Given the description of an element on the screen output the (x, y) to click on. 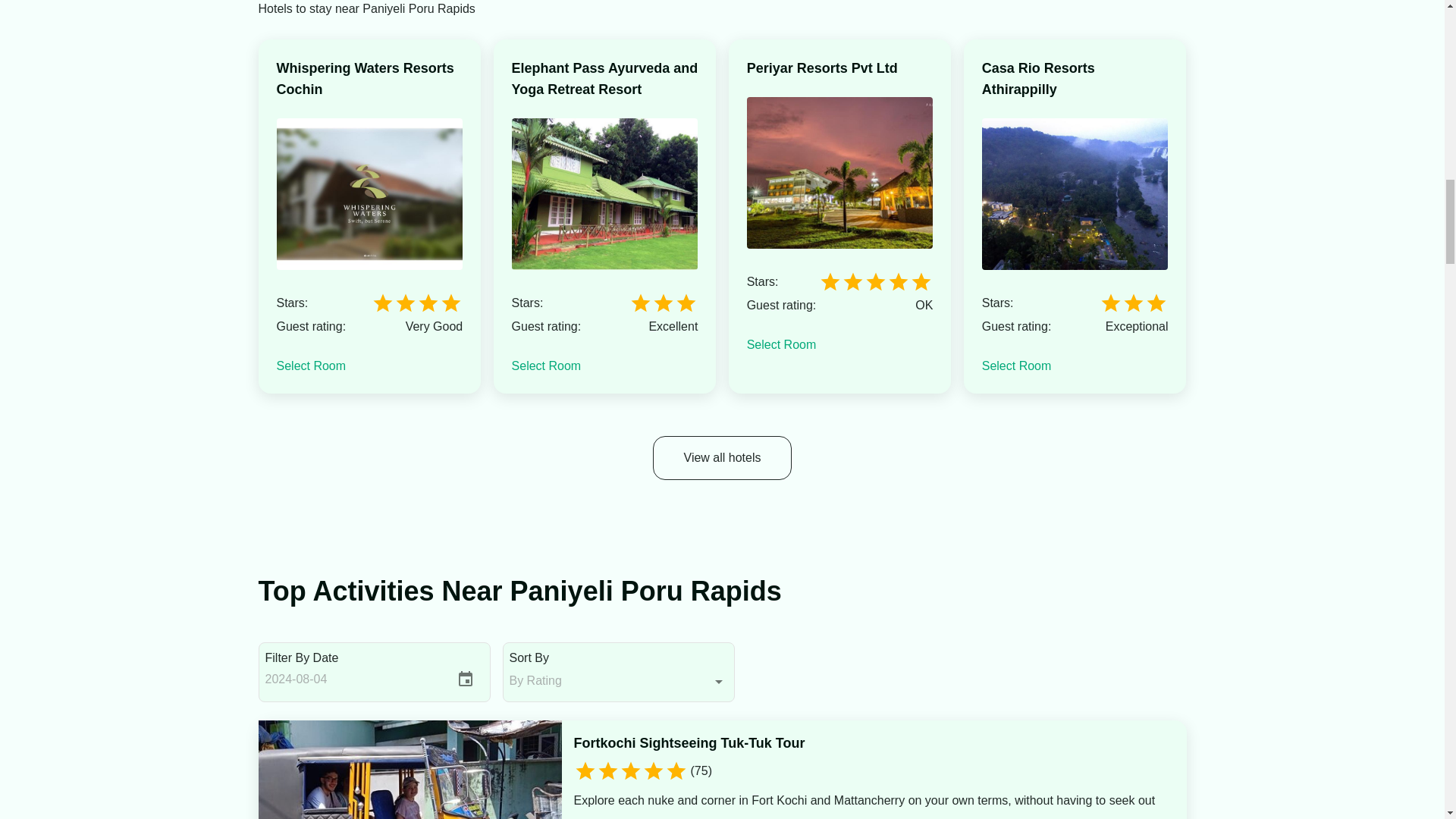
Elephant Pass Ayurveda and Yoga Retreat Resort (605, 78)
Fortkochi Sightseeing Tuk-Tuk Tour (689, 742)
Casa Rio Resorts Athirappilly (1075, 78)
Select Room (1016, 365)
Select Room (781, 344)
Periyar Resorts Pvt Ltd (822, 67)
Whispering Waters Resorts Cochin (369, 78)
2024-08-04 (352, 679)
Select Room (311, 365)
View all hotels (722, 457)
Select Room (546, 365)
